Given the description of an element on the screen output the (x, y) to click on. 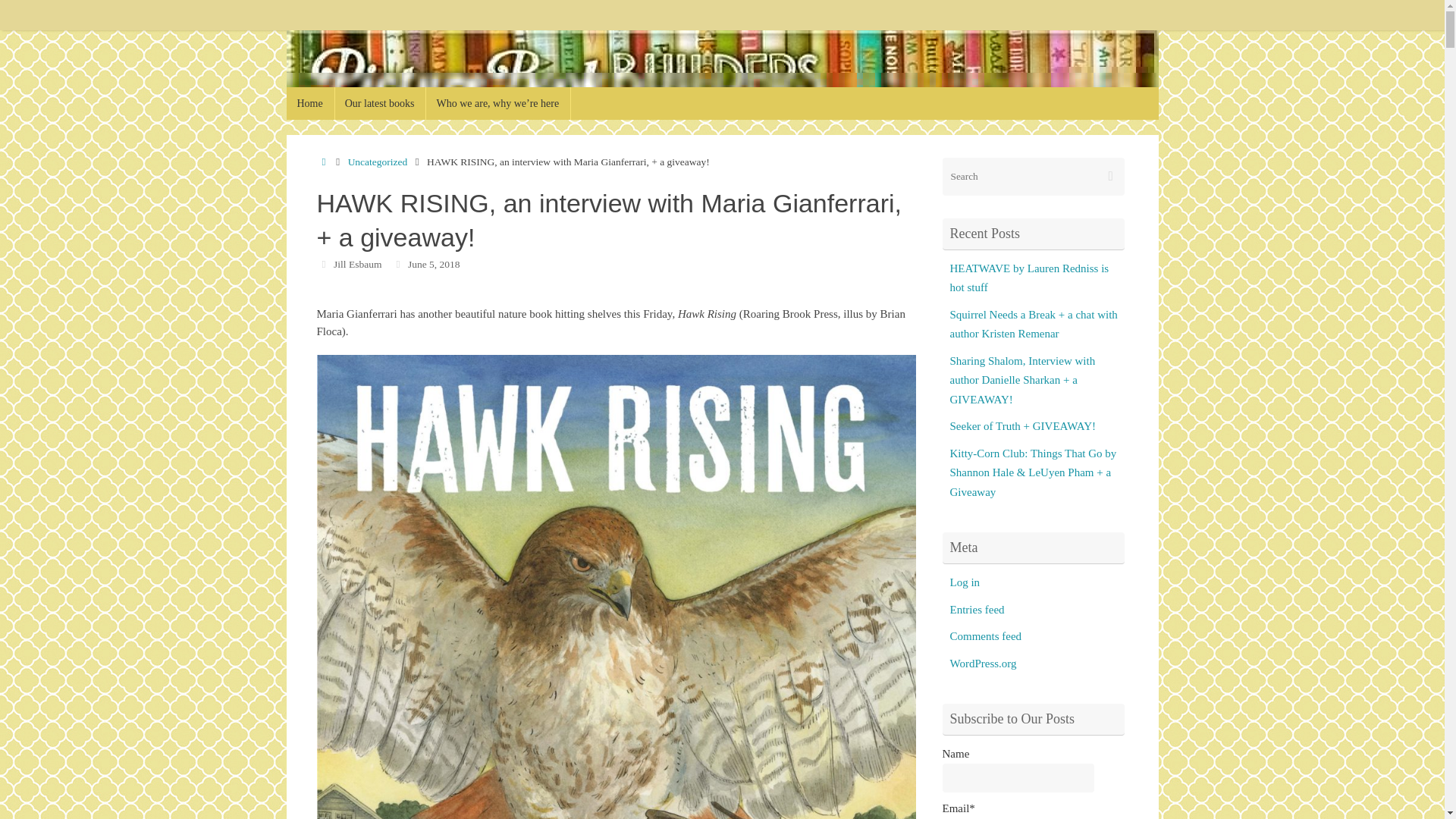
June 5, 2018 (433, 264)
Jill Esbaum (357, 264)
Author  (324, 264)
View all posts by Jill Esbaum (357, 264)
Home (310, 102)
Uncategorized (377, 161)
Our latest books (380, 102)
Date (397, 264)
Home (324, 161)
